Given the description of an element on the screen output the (x, y) to click on. 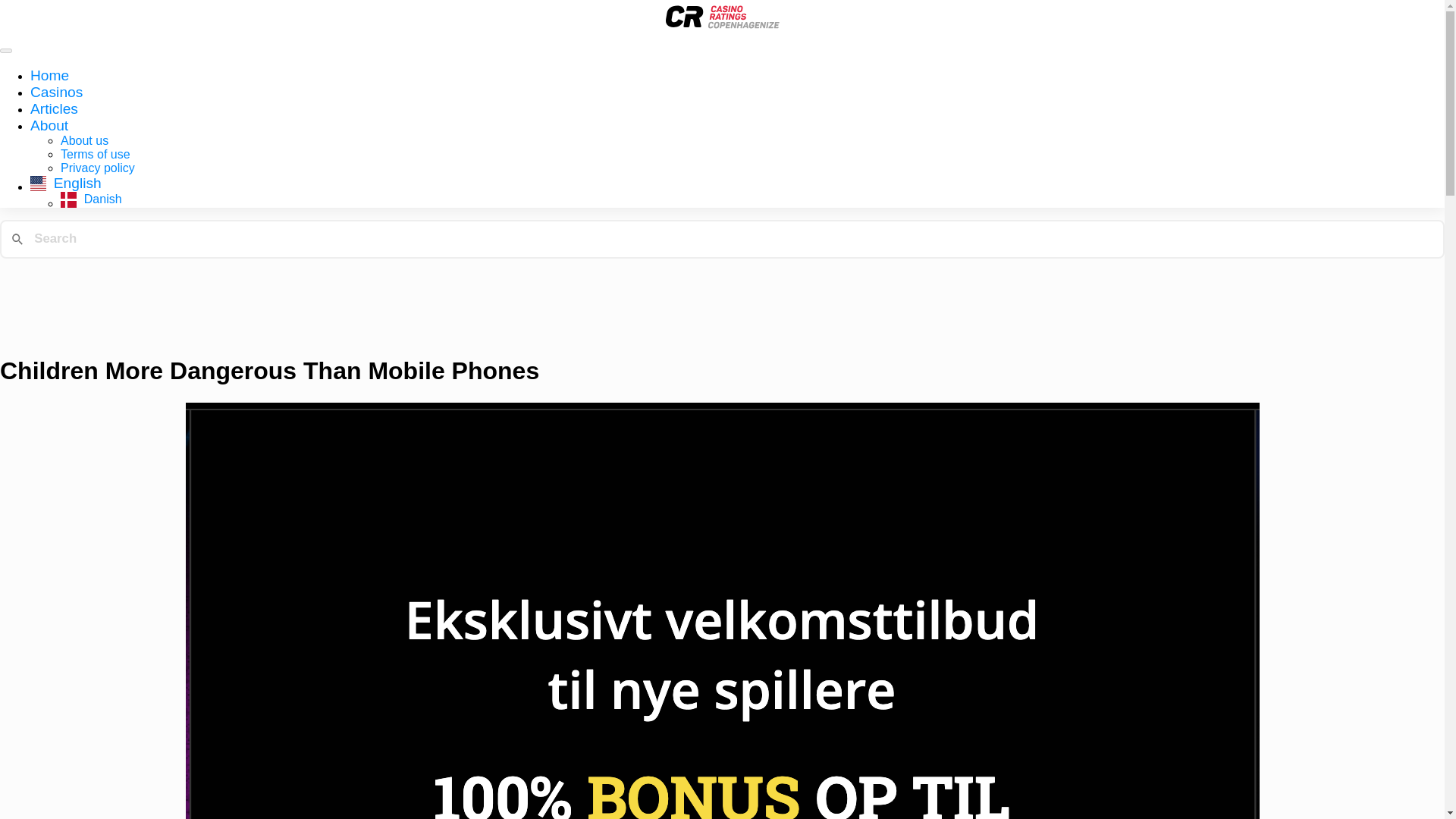
About (49, 125)
Casinos (56, 91)
Articles (54, 108)
About us (84, 140)
Privacy policy (98, 167)
Home (49, 75)
Terms of use (96, 154)
Articles (54, 108)
Casinos (56, 91)
Home (49, 75)
